Given the description of an element on the screen output the (x, y) to click on. 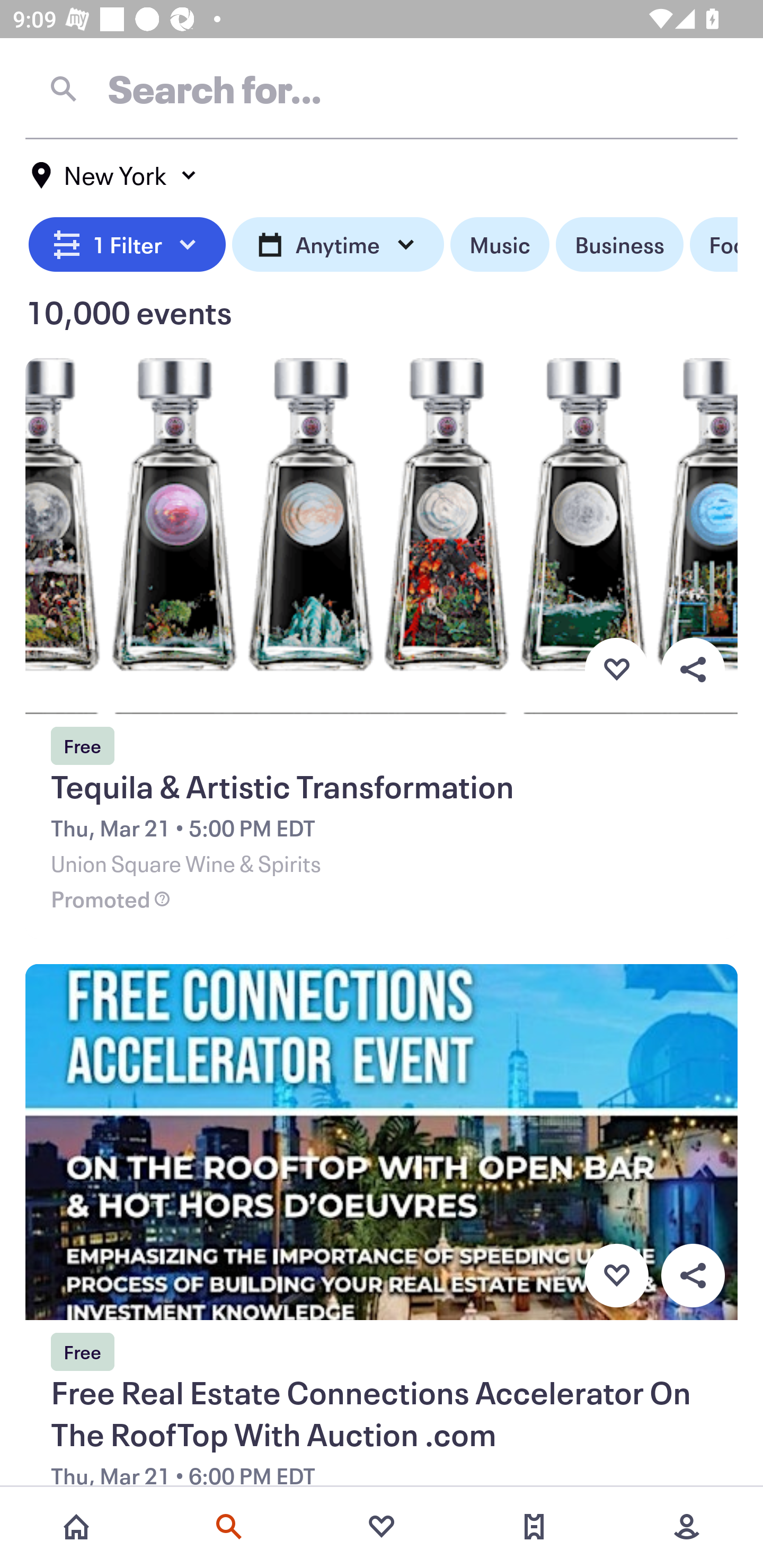
Search for… (381, 88)
New York (114, 175)
1 Filter (126, 244)
Anytime (337, 244)
Music (499, 244)
Business (619, 244)
Favorite button (616, 669)
Overflow menu button (692, 669)
Favorite button (616, 1275)
Overflow menu button (692, 1275)
Home (76, 1526)
Search events (228, 1526)
Favorites (381, 1526)
Tickets (533, 1526)
More (686, 1526)
